Given the description of an element on the screen output the (x, y) to click on. 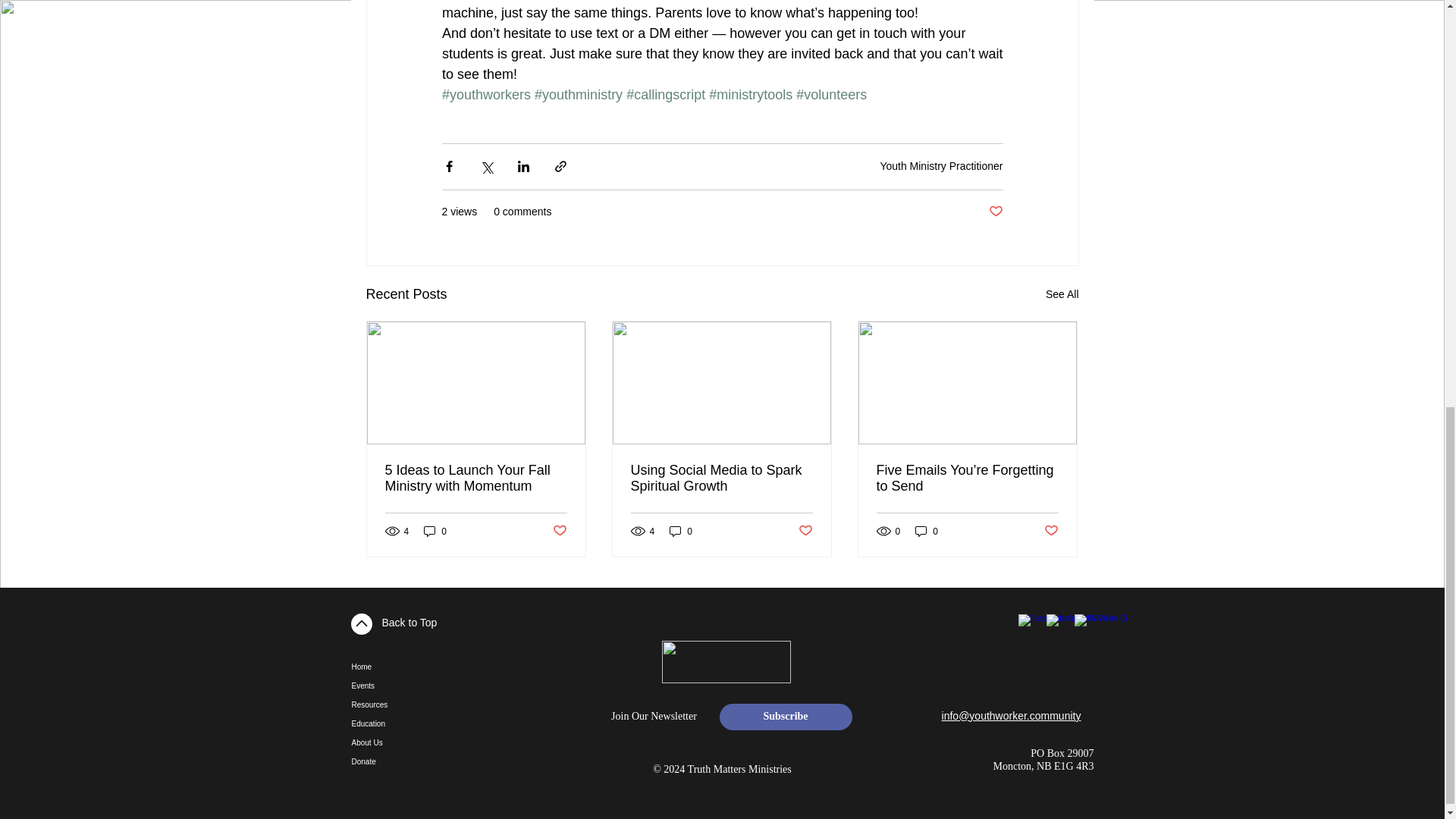
See All (1061, 294)
5 Ideas to Launch Your Fall Ministry with Momentum (476, 478)
Youth Ministry Practitioner (941, 165)
0 (435, 531)
Post not marked as liked (995, 211)
